Given the description of an element on the screen output the (x, y) to click on. 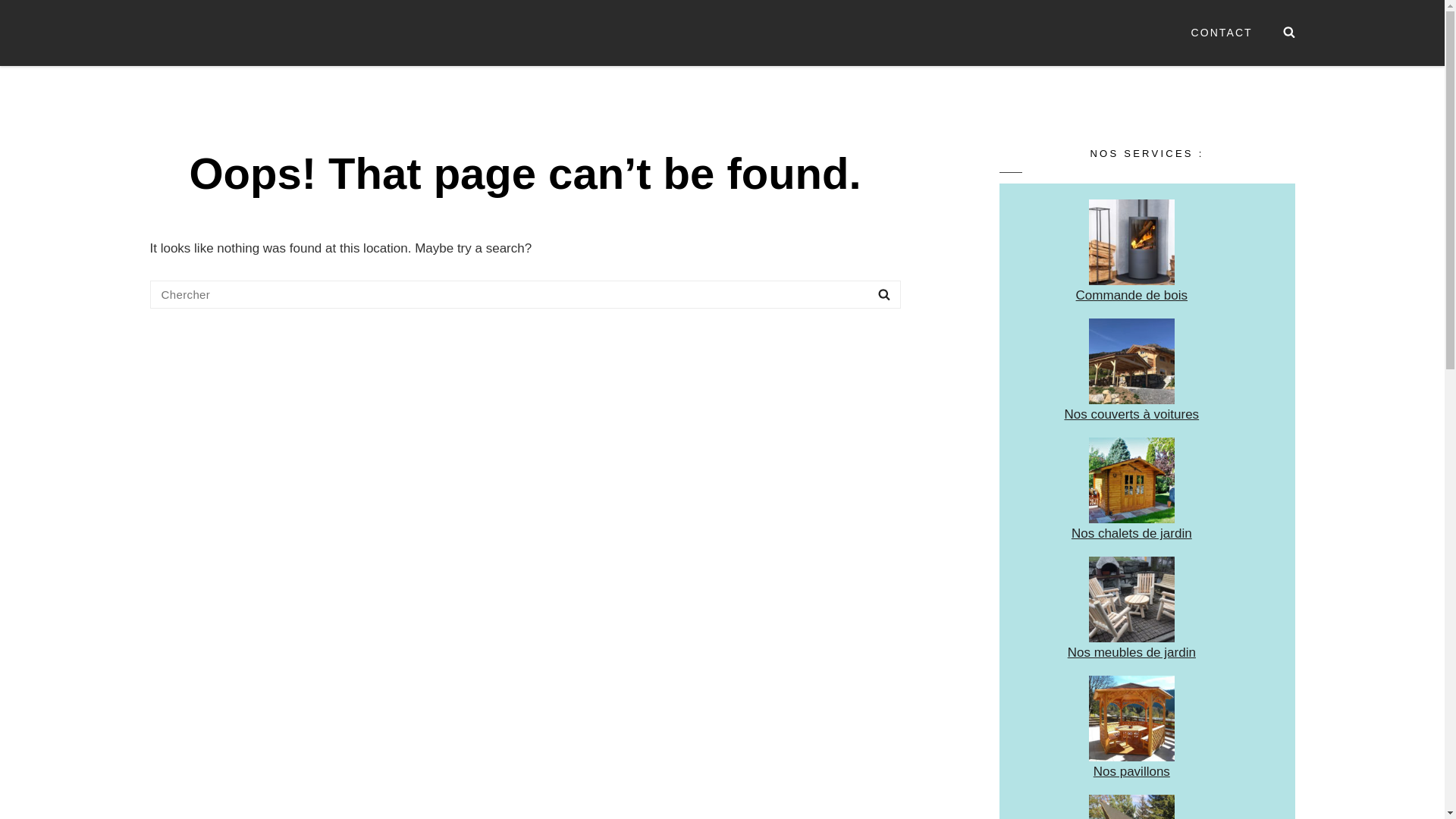
Search Element type: text (883, 294)
Nos meubles de jardin Element type: text (1131, 652)
Search Element type: text (1288, 32)
Commande de bois Element type: text (1131, 295)
Nos chalets de jardin Element type: text (1131, 533)
CONTACT Element type: text (1220, 32)
Nos pavillons Element type: text (1131, 771)
